Given the description of an element on the screen output the (x, y) to click on. 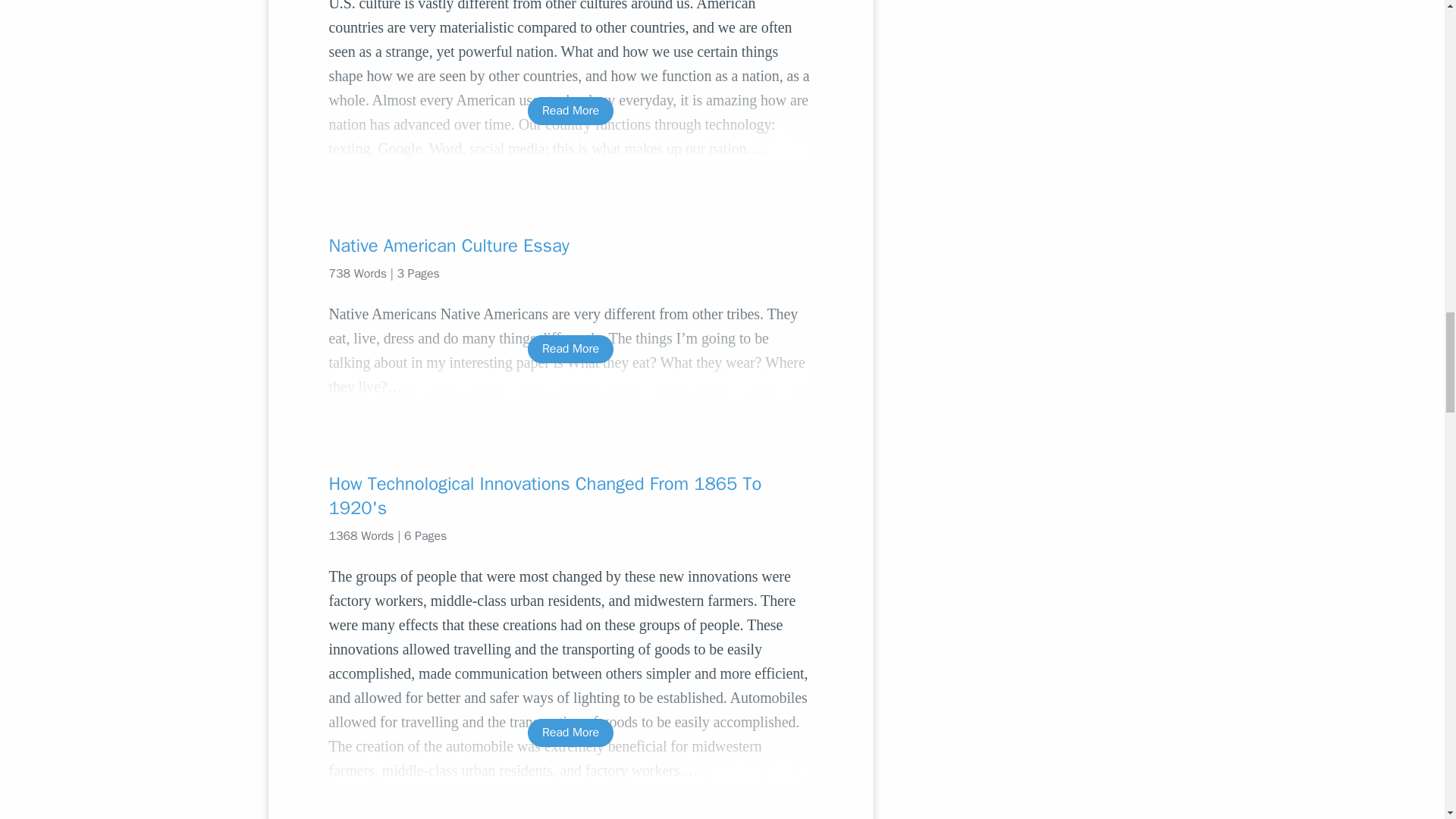
Native American Culture Essay (570, 245)
Read More (569, 732)
Read More (569, 348)
How Technological Innovations Changed From 1865 To 1920's (570, 495)
Read More (569, 111)
